Given the description of an element on the screen output the (x, y) to click on. 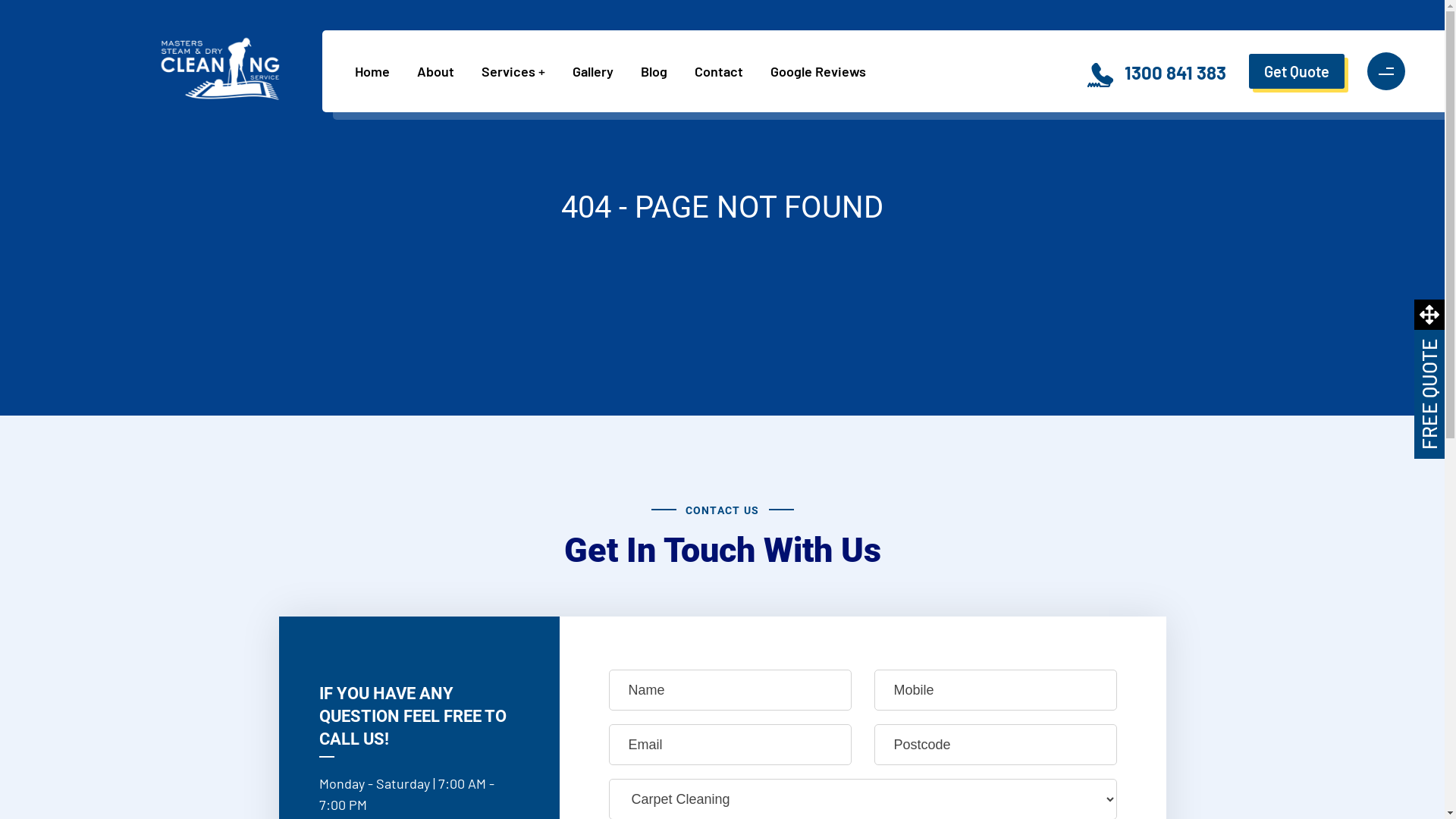
Services + Element type: text (519, 71)
Google Reviews Element type: text (824, 71)
About Element type: text (441, 71)
Gallery Element type: text (598, 71)
Contact Element type: text (724, 71)
Blog Element type: text (659, 71)
1300 841 383 Element type: text (1175, 72)
Home Element type: text (377, 71)
